Given the description of an element on the screen output the (x, y) to click on. 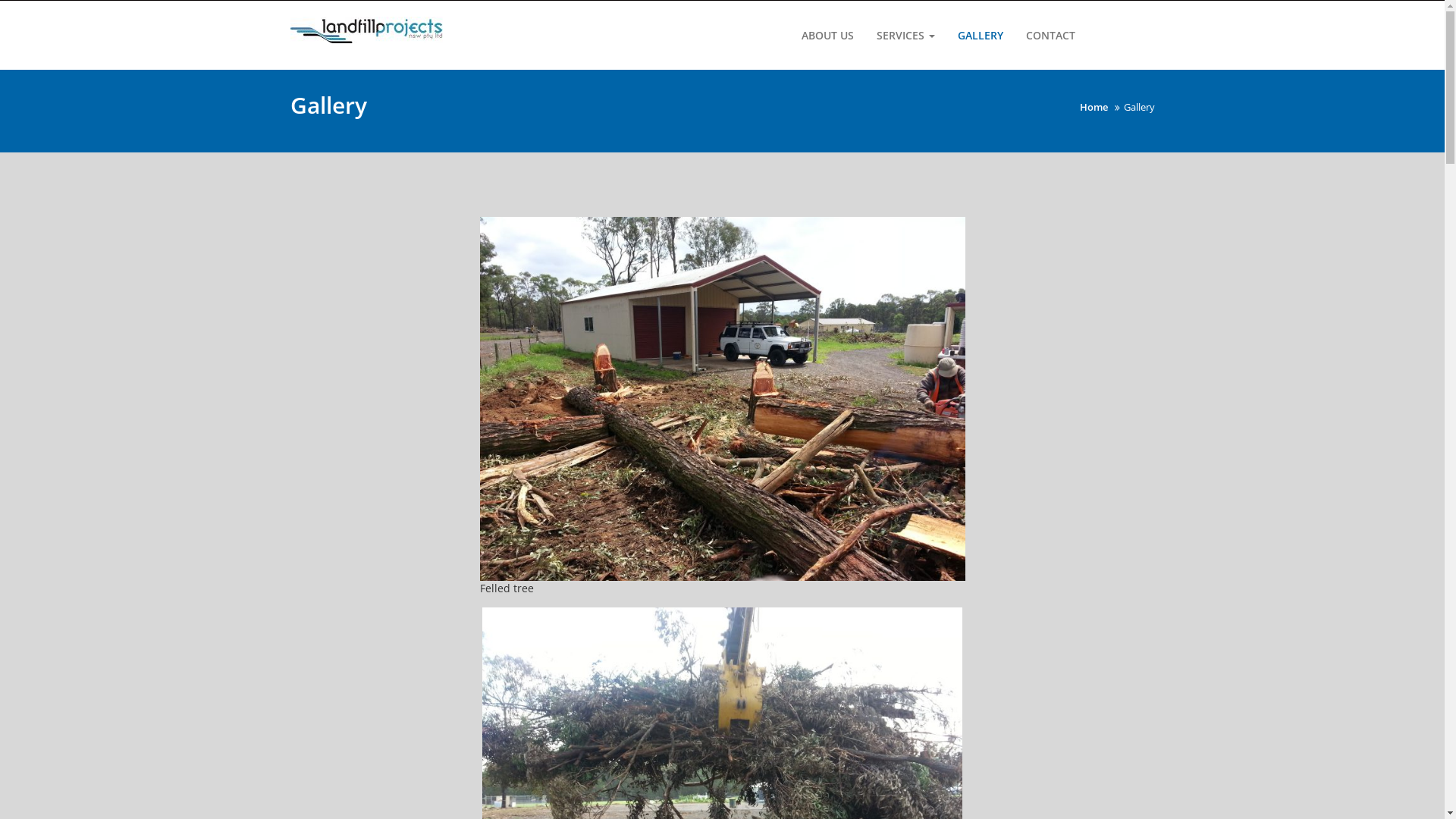
Google+ Element type: hover (1096, 27)
SERVICES Element type: text (904, 35)
LinkedIn Element type: hover (1142, 27)
ABOUT US Element type: text (827, 35)
GALLERY Element type: text (980, 35)
Skip to content Element type: text (0, 0)
CONTACT Element type: text (1050, 35)
Facebook Element type: hover (1119, 27)
Home Element type: text (1093, 106)
